Given the description of an element on the screen output the (x, y) to click on. 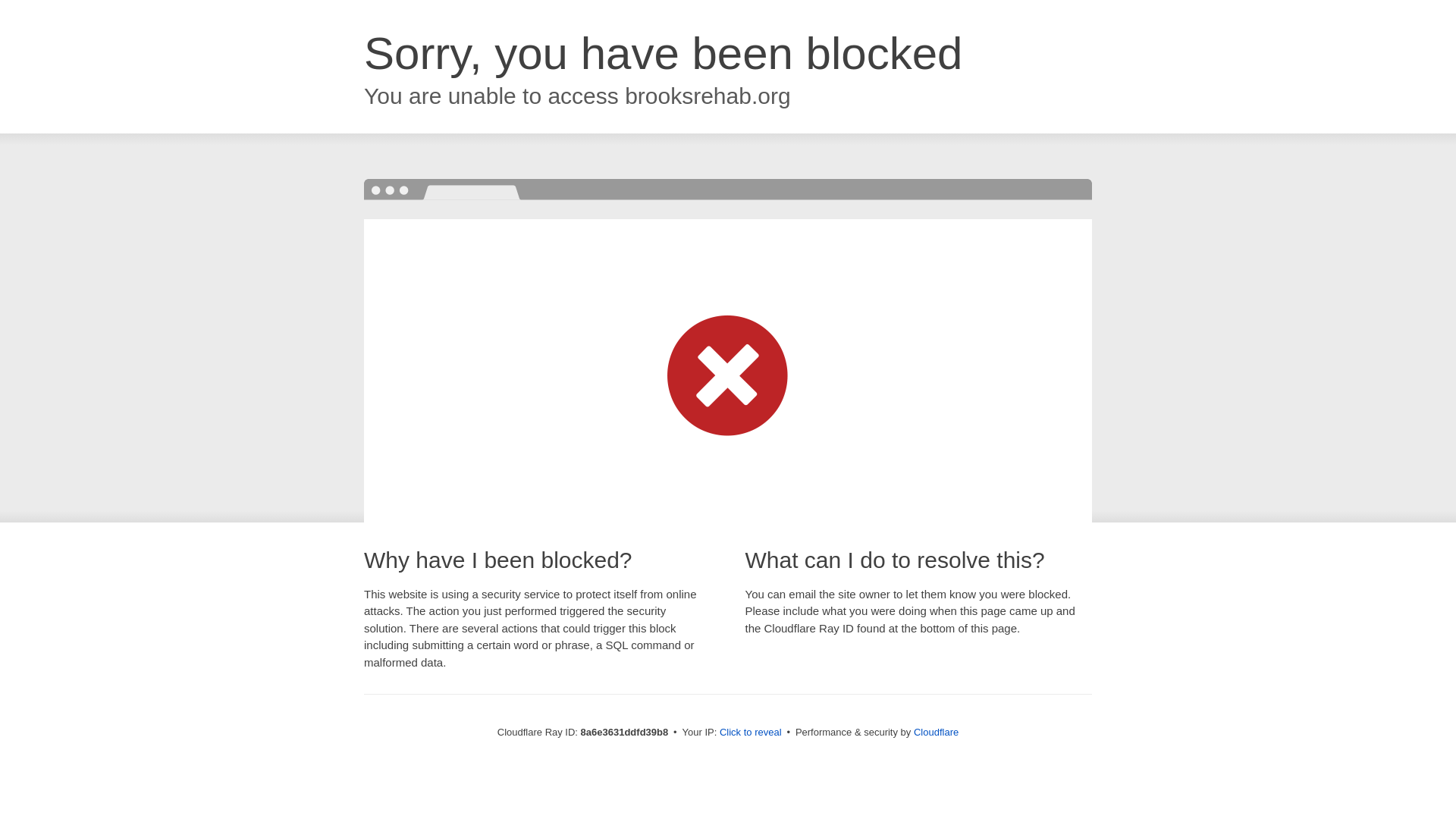
Cloudflare (936, 731)
Click to reveal (750, 732)
